Given the description of an element on the screen output the (x, y) to click on. 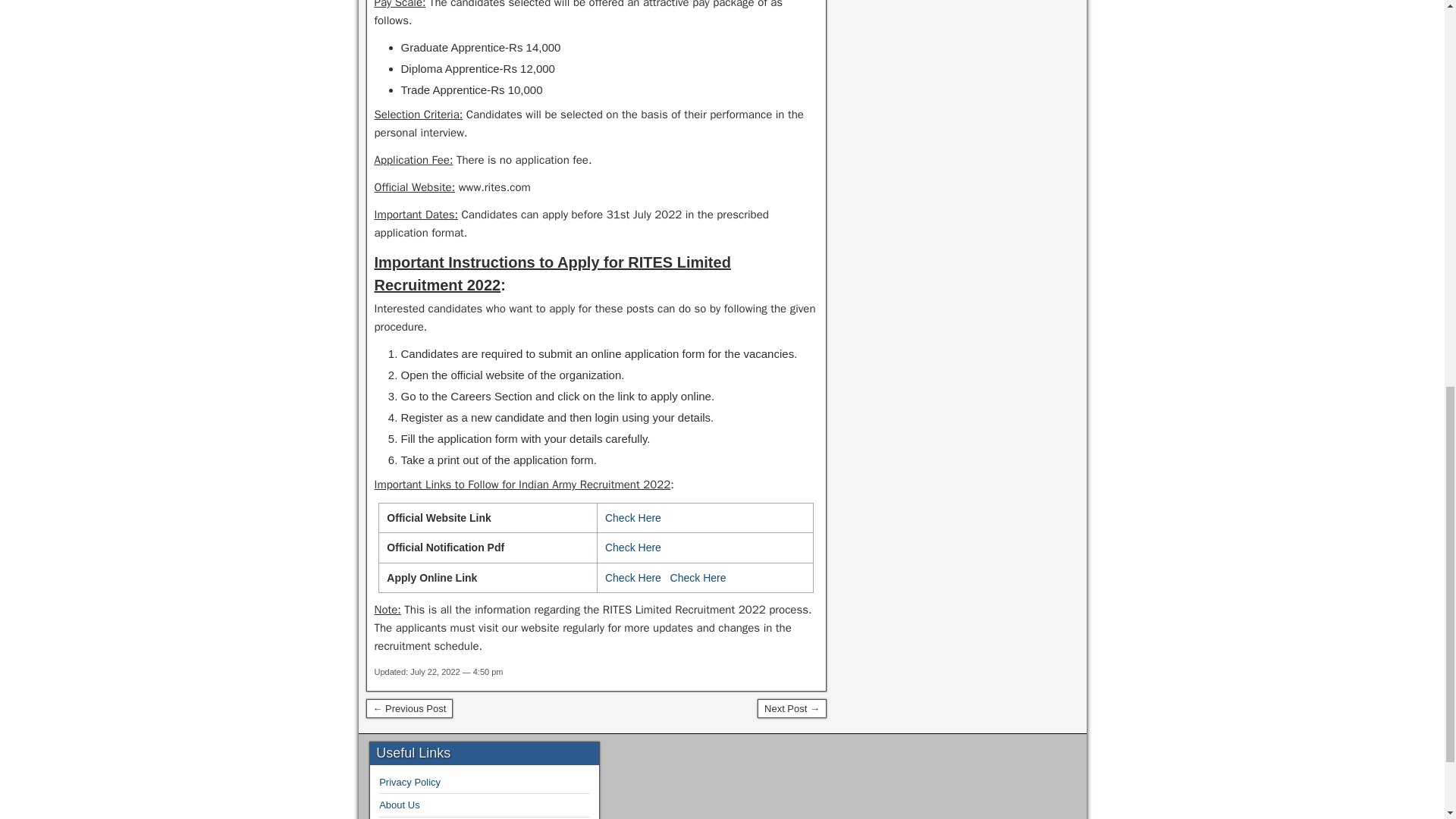
Check Here (697, 577)
About Us (398, 804)
Check Here (633, 547)
Check Here (633, 577)
Privacy Policy (409, 781)
Check Here (633, 517)
